Given the description of an element on the screen output the (x, y) to click on. 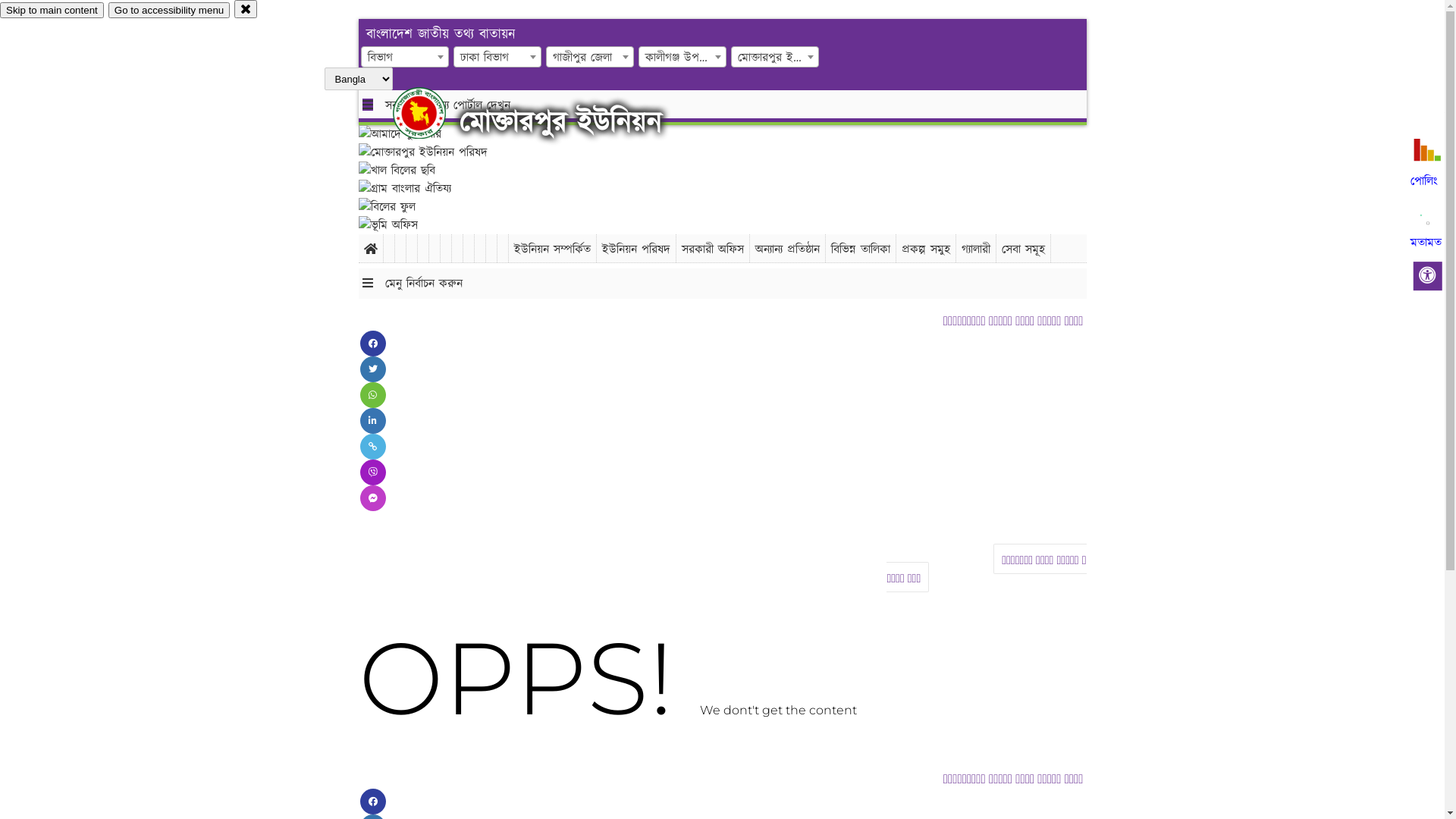

                
             Element type: hover (431, 112)
Skip to main content Element type: text (51, 10)
Go to accessibility menu Element type: text (168, 10)
close Element type: hover (245, 9)
